Given the description of an element on the screen output the (x, y) to click on. 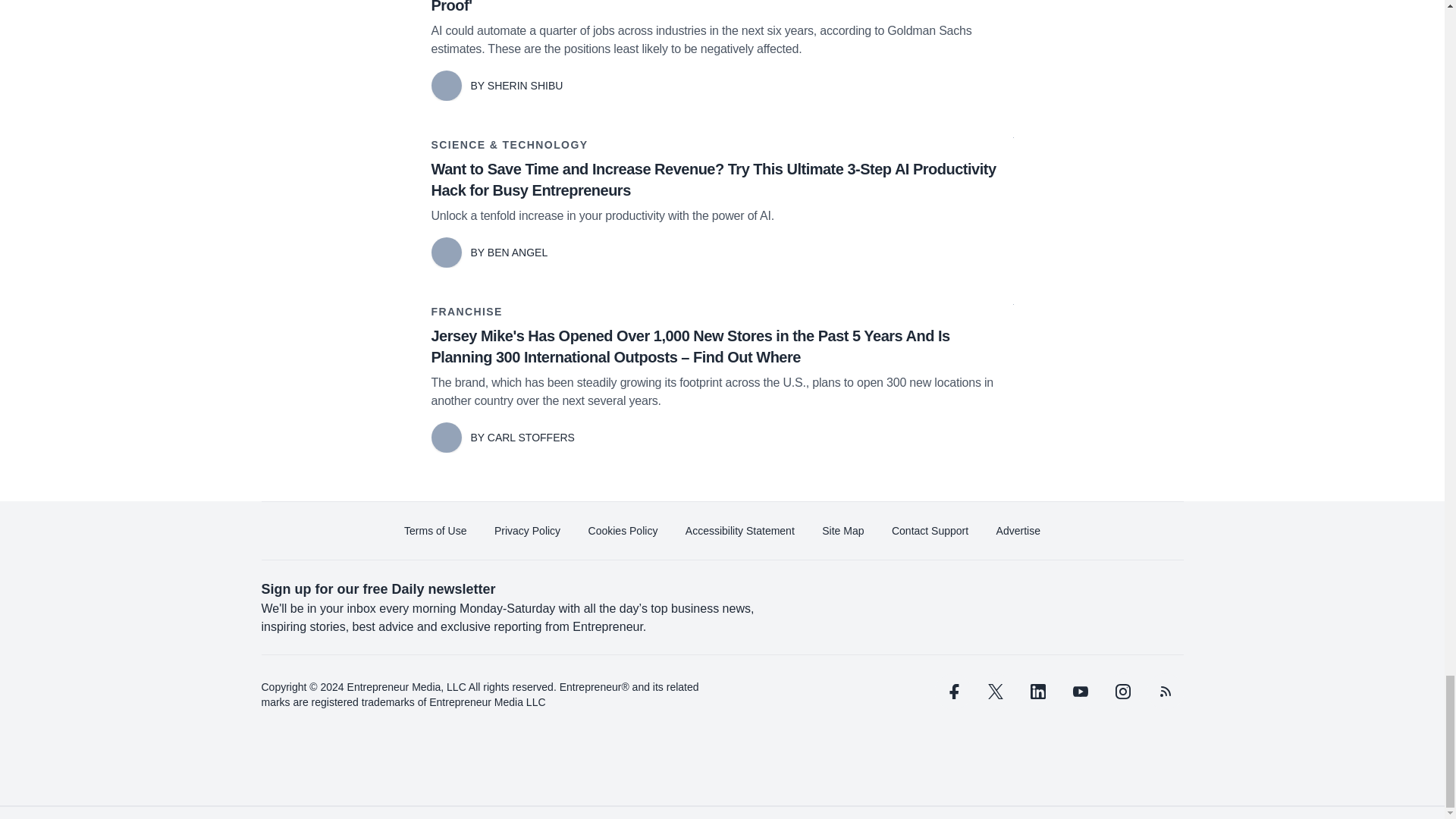
facebook (952, 691)
linkedin (1037, 691)
twitter (994, 691)
rss (1164, 691)
youtube (1079, 691)
instagram (1121, 691)
